Given the description of an element on the screen output the (x, y) to click on. 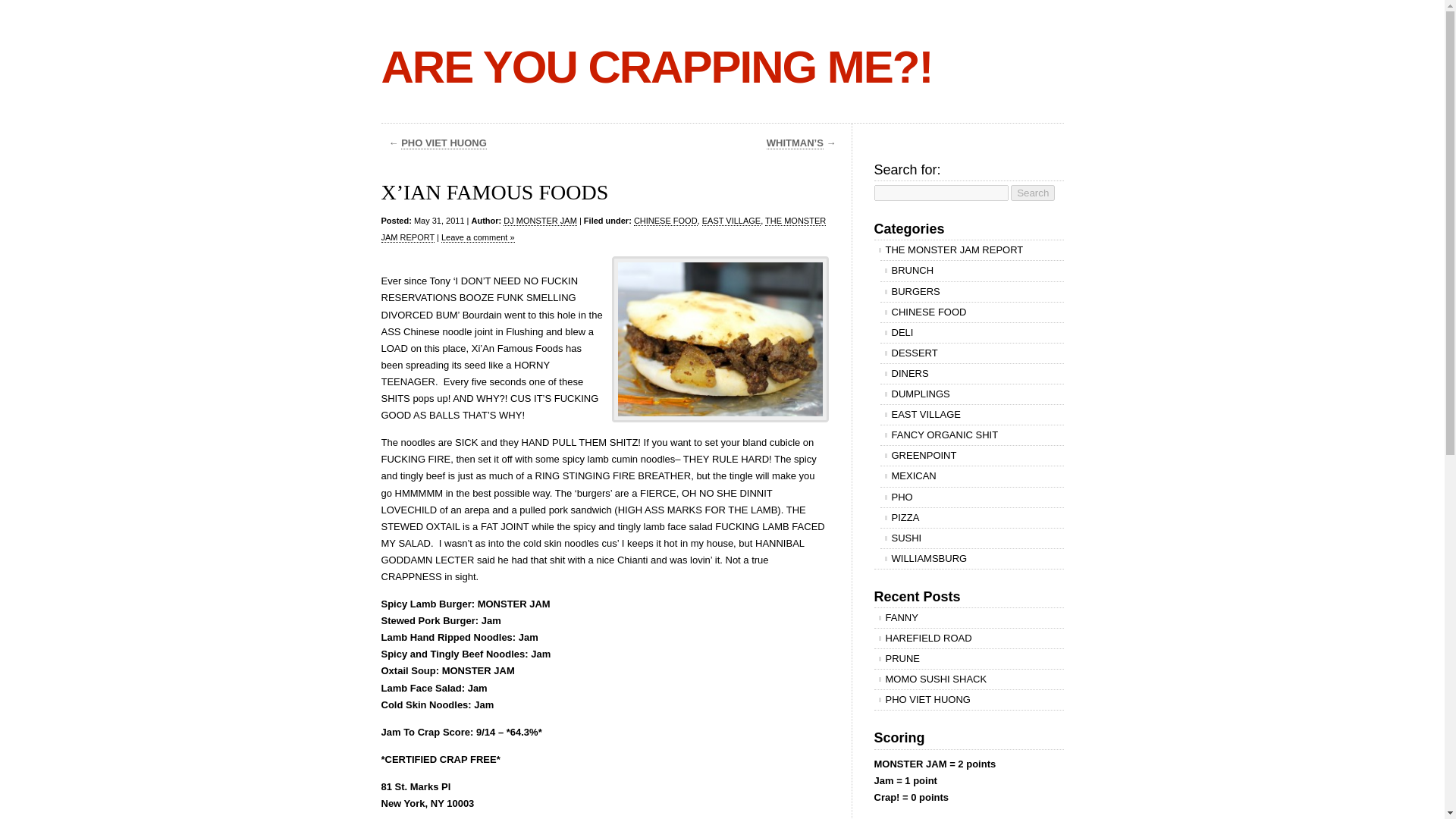
MEXICAN (970, 476)
ARE YOU CRAPPING ME?! (655, 66)
MOMO SUSHI SHACK (967, 679)
Search (1032, 192)
CHINESE FOOD (665, 221)
PHO VIET HUONG (443, 143)
WILLIAMSBURG (970, 558)
Search (1032, 192)
FANCY ORGANIC SHIT (970, 435)
FANNY (967, 618)
